Given the description of an element on the screen output the (x, y) to click on. 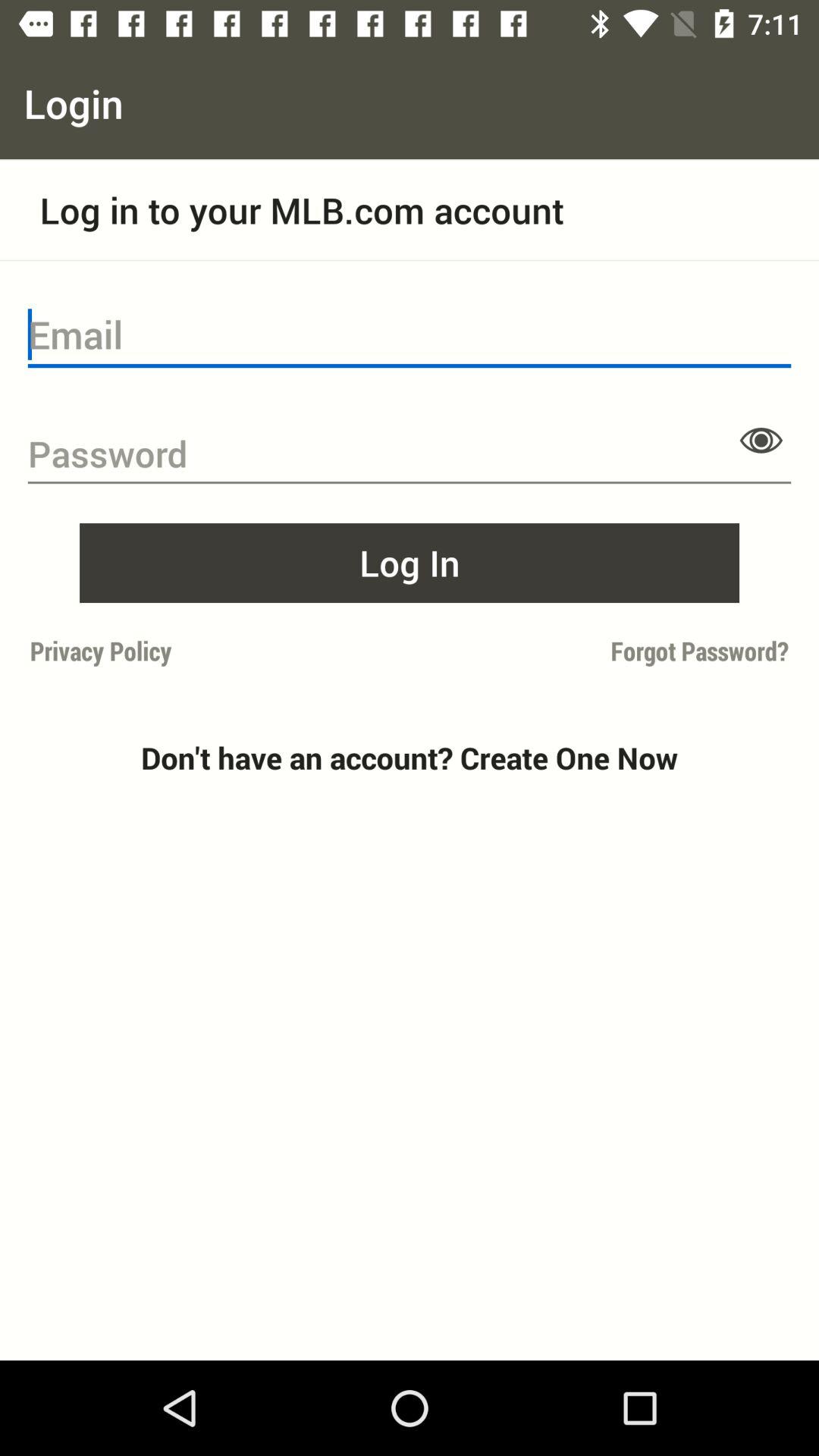
turn off the icon to the right of privacy policy icon (604, 650)
